Given the description of an element on the screen output the (x, y) to click on. 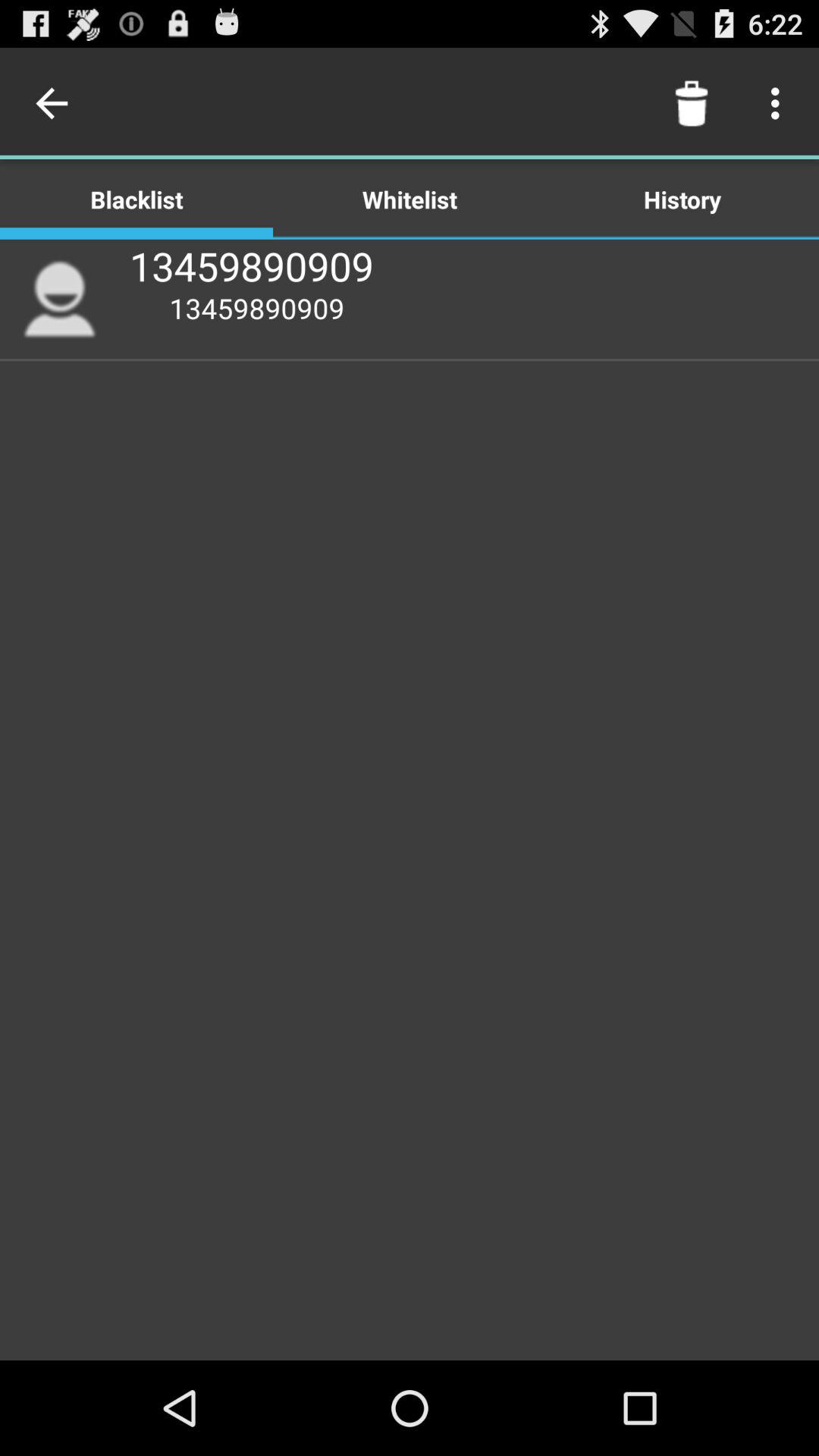
swipe to whitelist (409, 199)
